Given the description of an element on the screen output the (x, y) to click on. 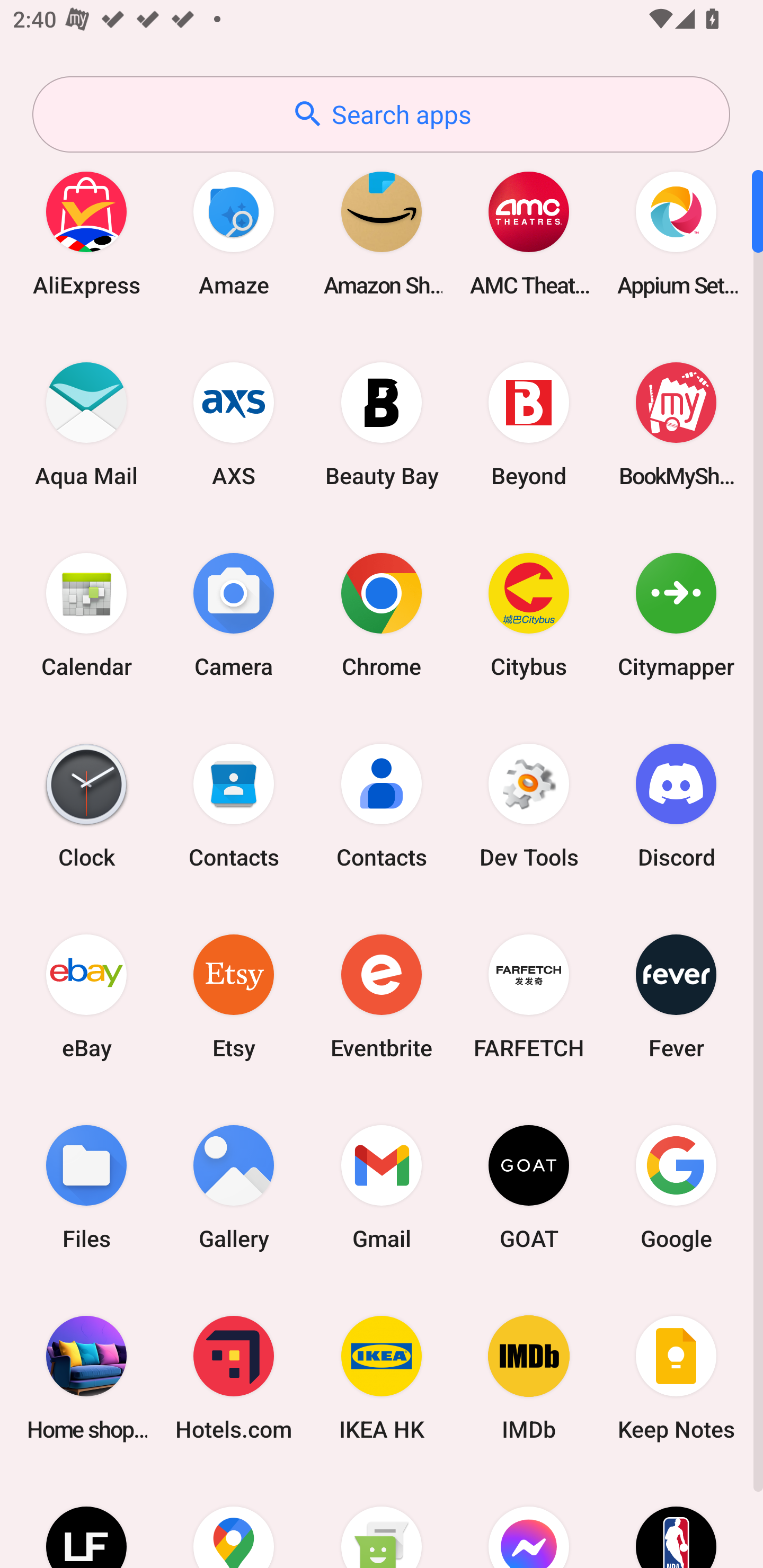
Citymapper (676, 614)
